Given the description of an element on the screen output the (x, y) to click on. 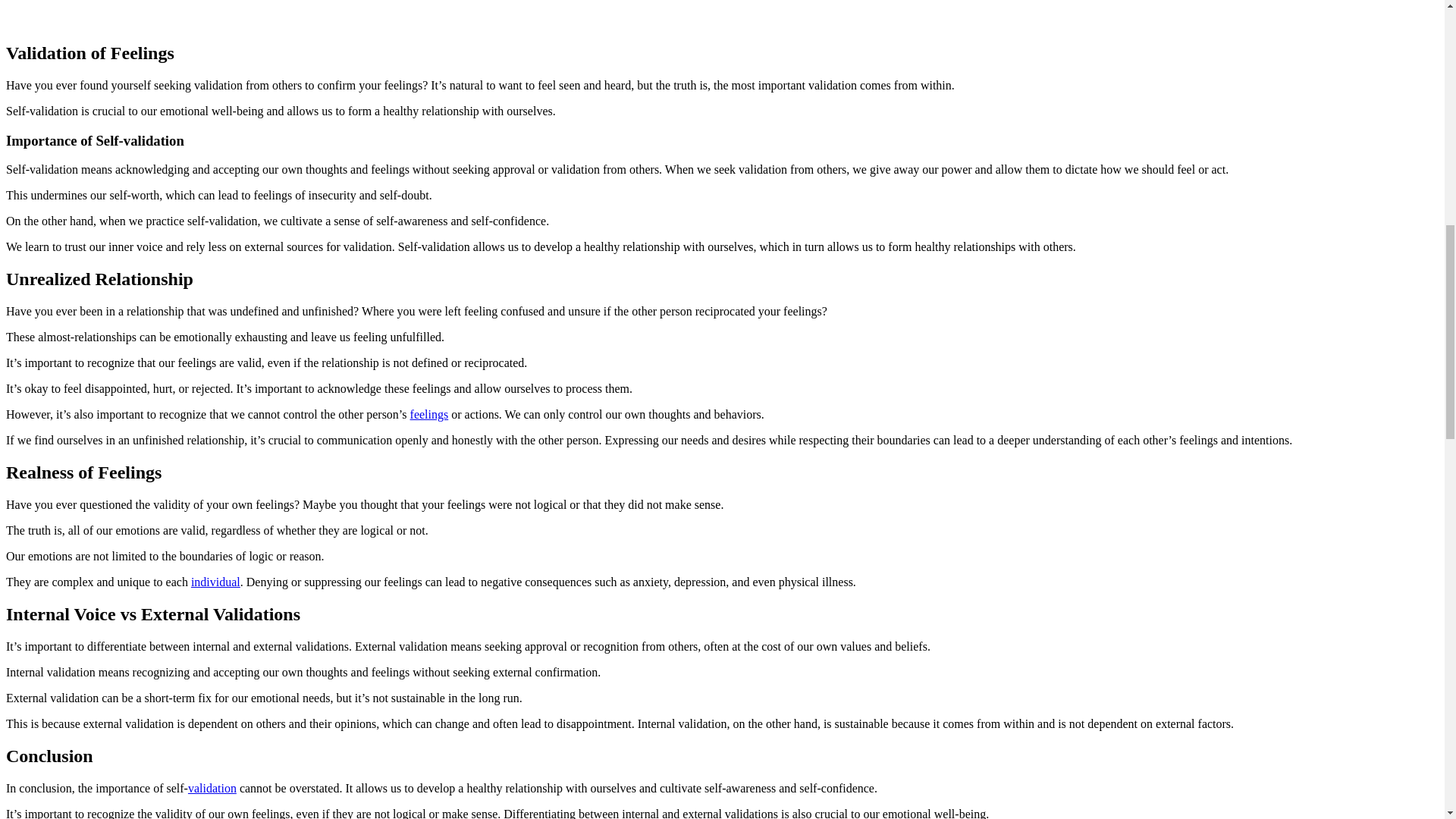
validation (211, 787)
individual (215, 581)
feelings (429, 413)
